Given the description of an element on the screen output the (x, y) to click on. 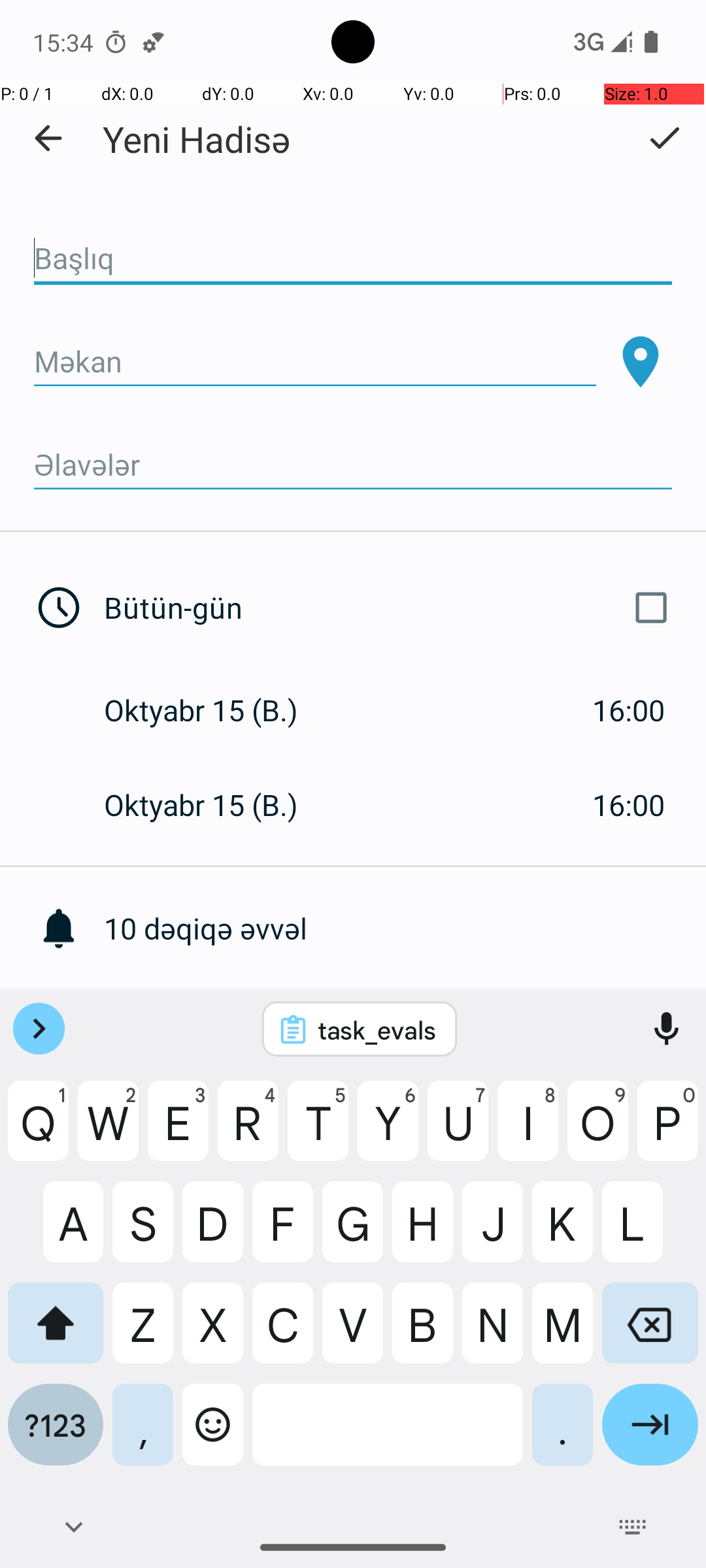
Yeni Hadisə Element type: android.widget.TextView (196, 138)
Saxla Element type: android.widget.Button (664, 137)
Başlıq Element type: android.widget.EditText (352, 258)
Məkan Element type: android.widget.EditText (314, 361)
Əlavələr Element type: android.widget.EditText (352, 465)
Oktyabr 15 (B.) Element type: android.widget.TextView (214, 709)
10 dəqiqə əvvəl Element type: android.widget.TextView (404, 927)
Başqa bir xatırladıcı əlavə et Element type: android.widget.TextView (404, 1022)
Bütün-gün Element type: android.widget.CheckBox (390, 607)
